Given the description of an element on the screen output the (x, y) to click on. 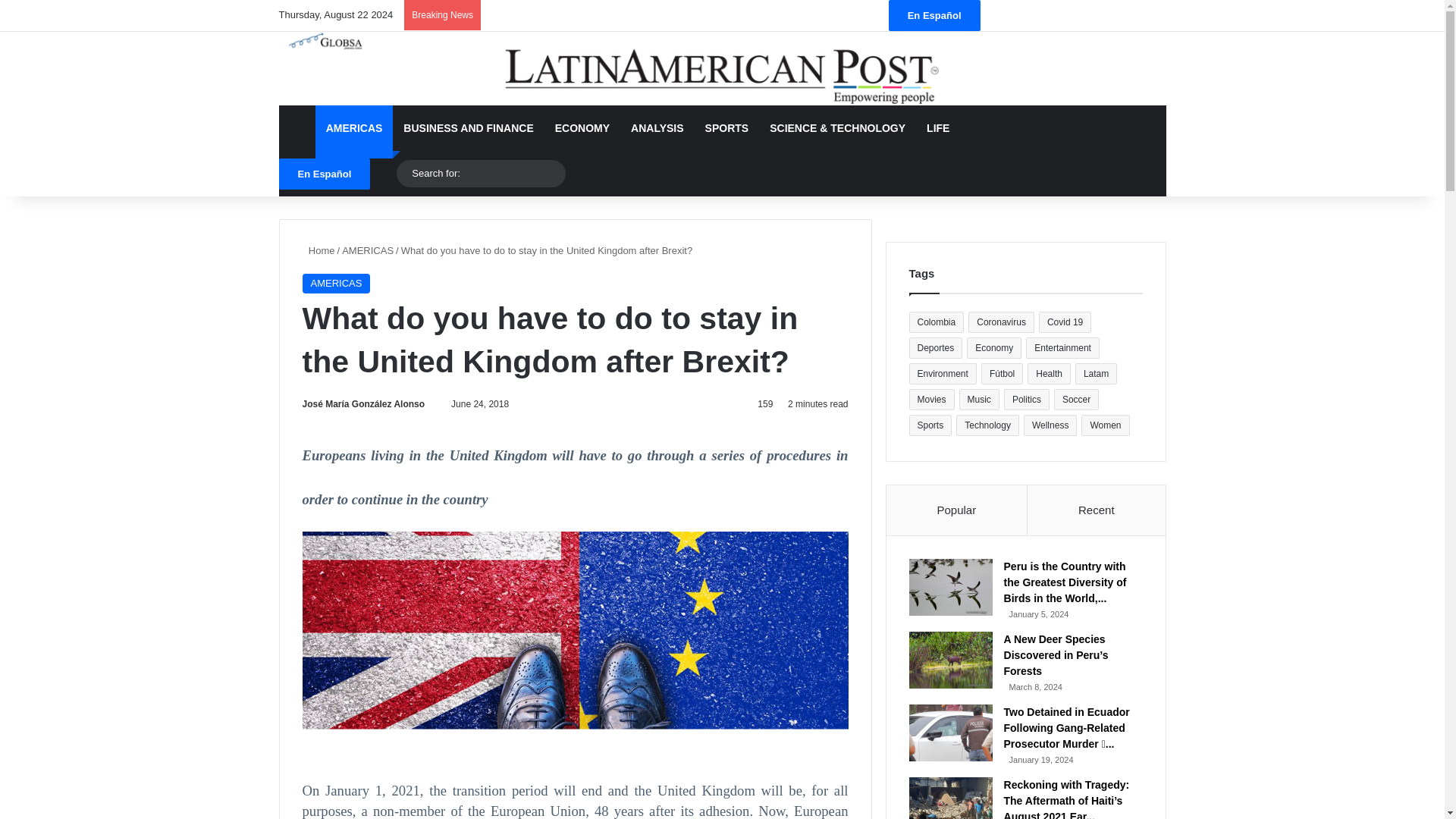
LIFE (937, 127)
SPORTS (727, 127)
LatinAmerican Post (722, 67)
Search for: (550, 173)
ECONOMY (582, 127)
BUSINESS AND FINANCE (468, 127)
AMERICAS (335, 283)
Search for: (481, 172)
Home (317, 250)
